Given the description of an element on the screen output the (x, y) to click on. 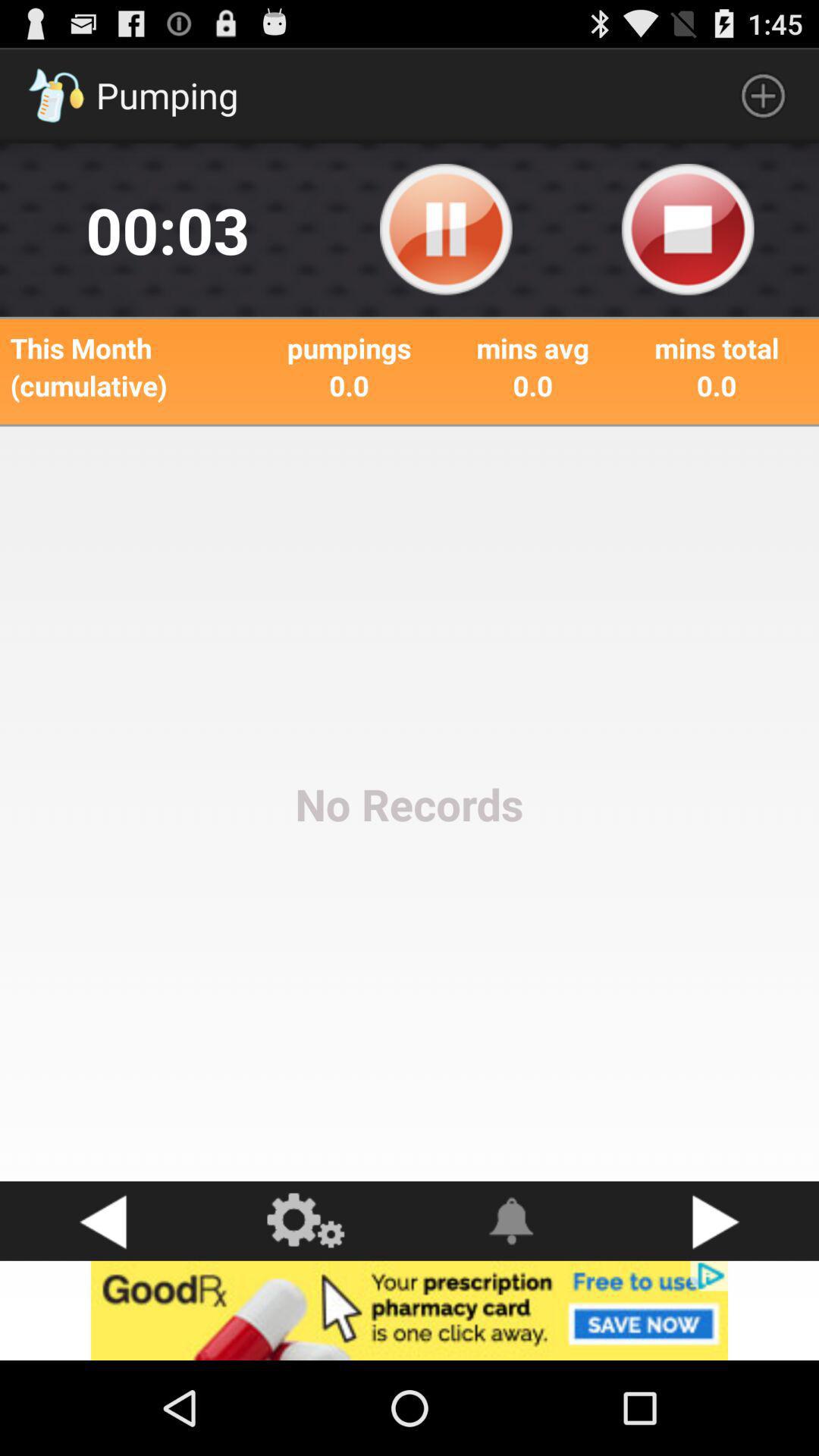
settings button (306, 1220)
